Given the description of an element on the screen output the (x, y) to click on. 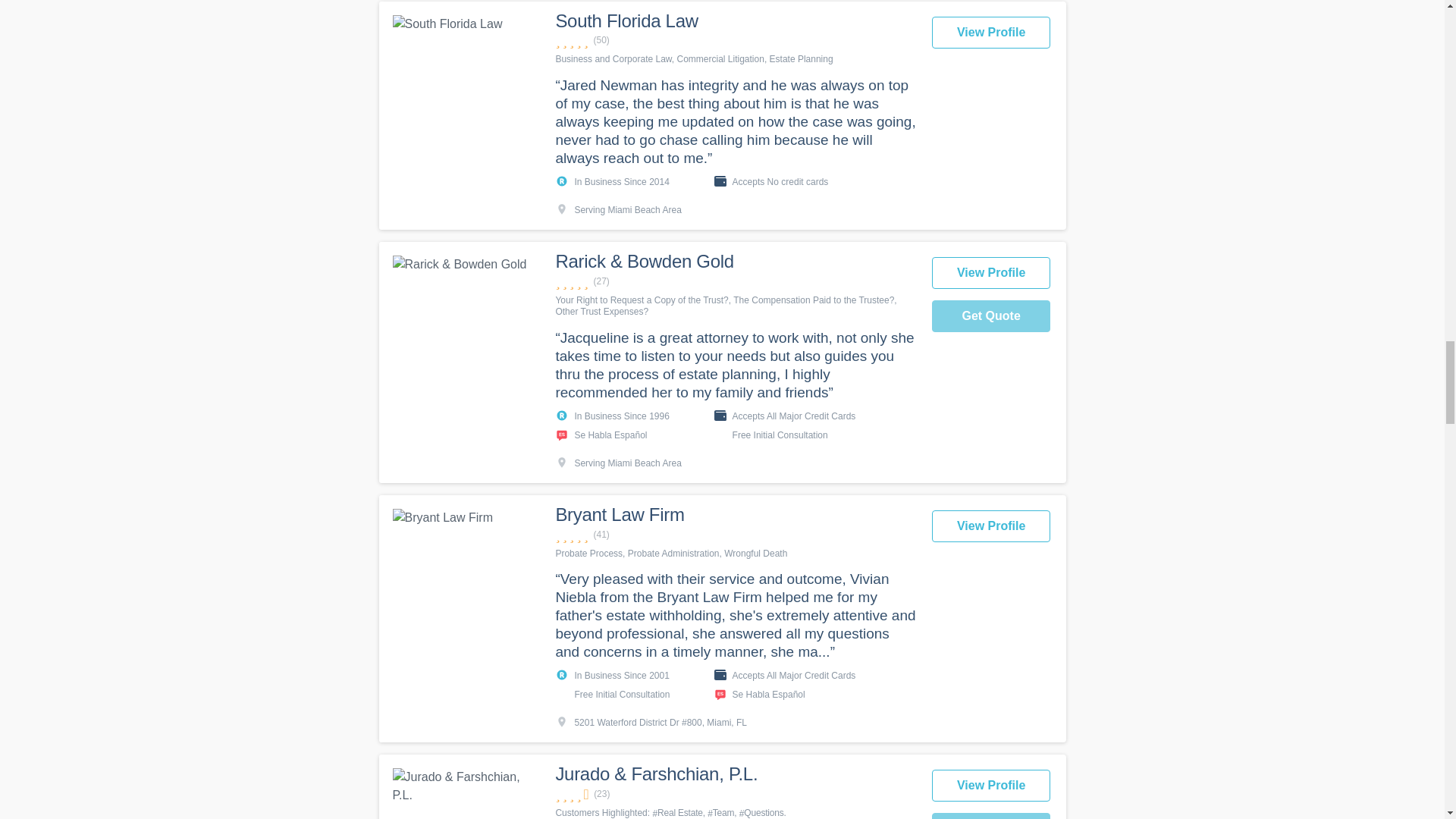
4.8 (734, 534)
5.0 (734, 40)
5.0 (734, 281)
4.5 (734, 794)
